Given the description of an element on the screen output the (x, y) to click on. 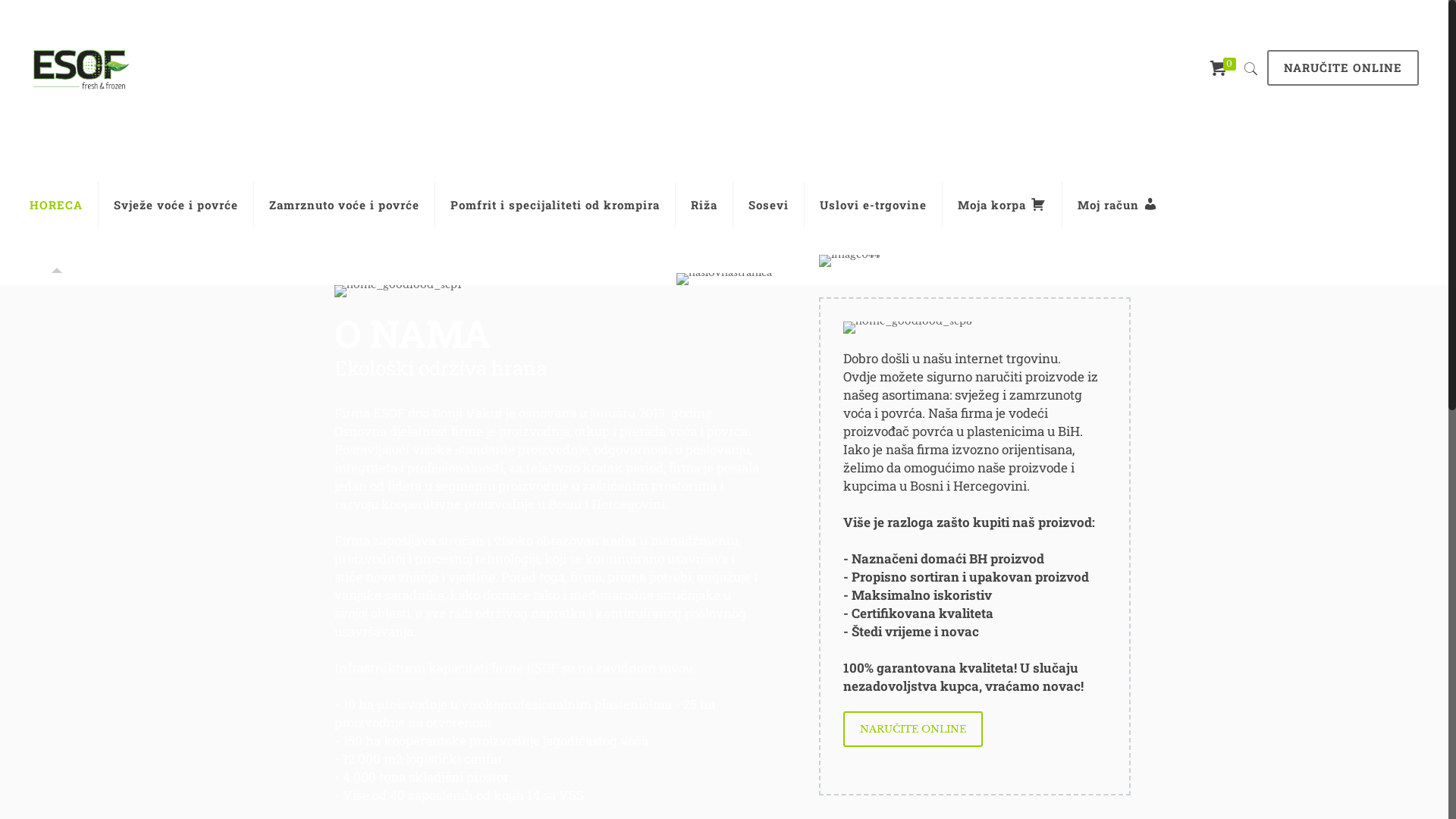
HORECA Element type: text (56, 204)
Pomfrit i specijaliteti od krompira Element type: text (555, 204)
Uslovi e-trgovine Element type: text (873, 204)
0 Element type: text (1224, 68)
ESOF Element type: hover (80, 68)
Moja korpa Element type: text (1002, 204)
Sosevi Element type: text (768, 204)
